Given the description of an element on the screen output the (x, y) to click on. 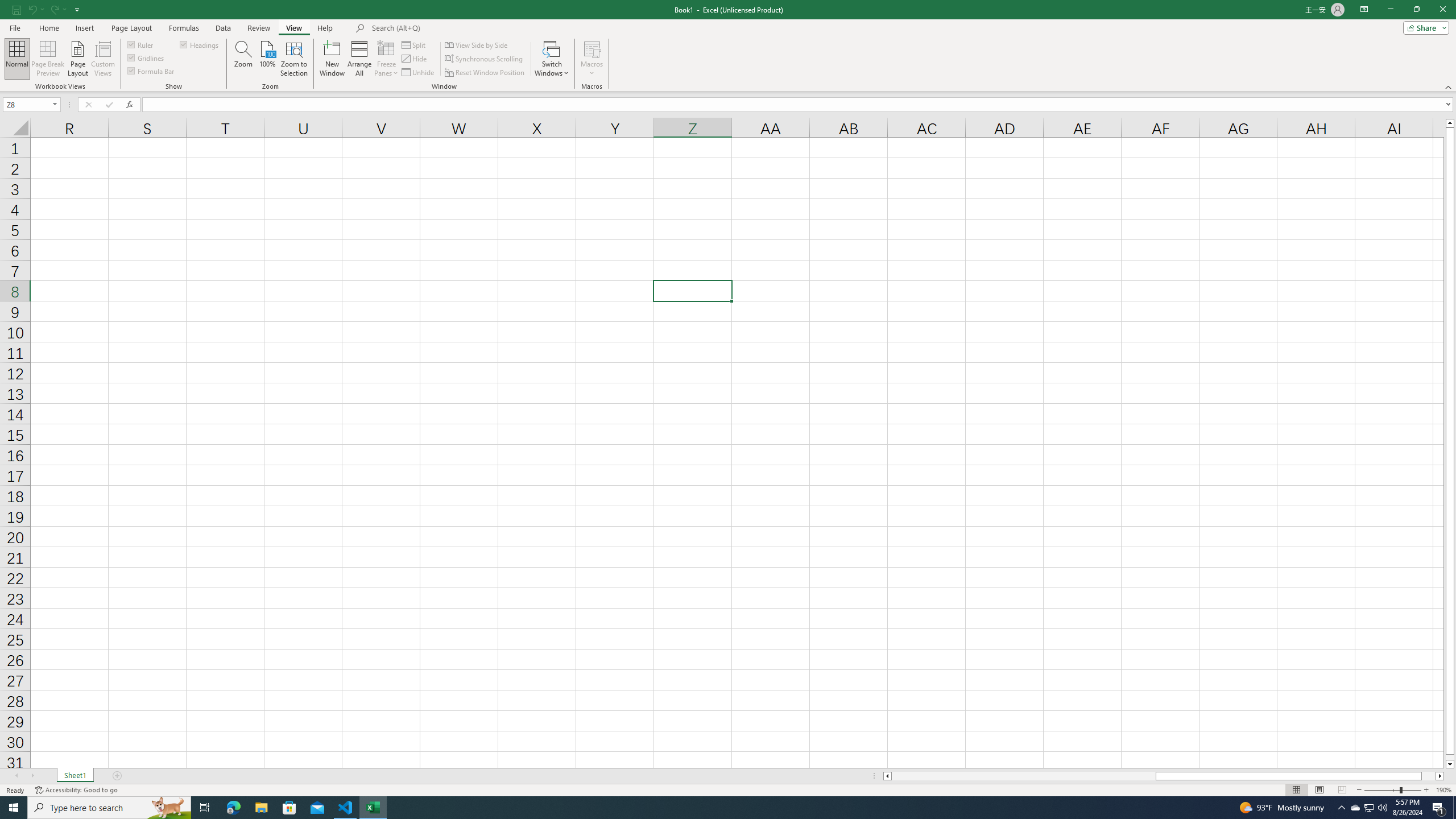
View Side by Side (476, 44)
Synchronous Scrolling (484, 58)
Unhide... (419, 72)
Hide (415, 58)
Freeze Panes (386, 58)
Zoom... (242, 58)
